Given the description of an element on the screen output the (x, y) to click on. 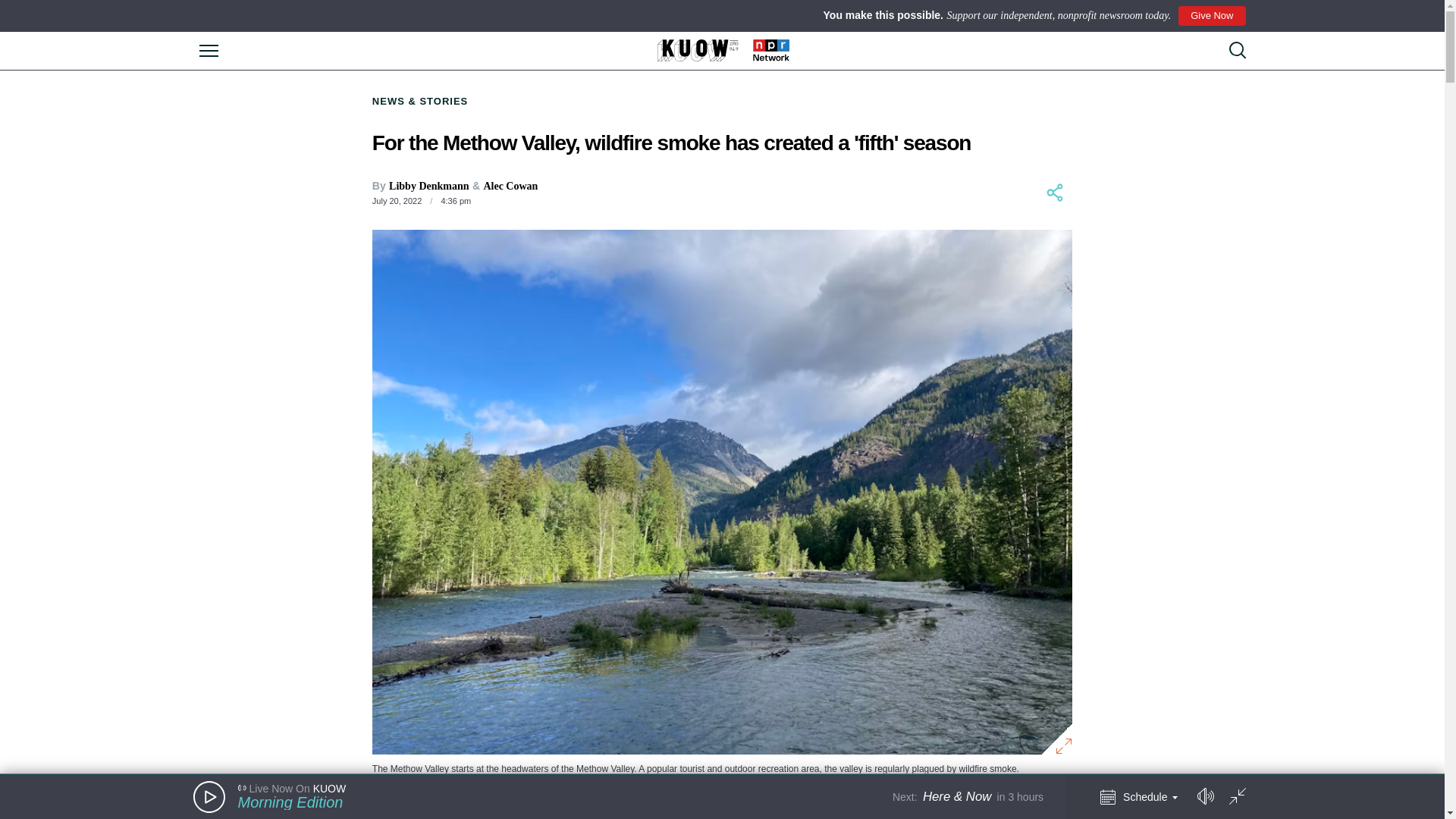
Give Now (1210, 15)
